Given the description of an element on the screen output the (x, y) to click on. 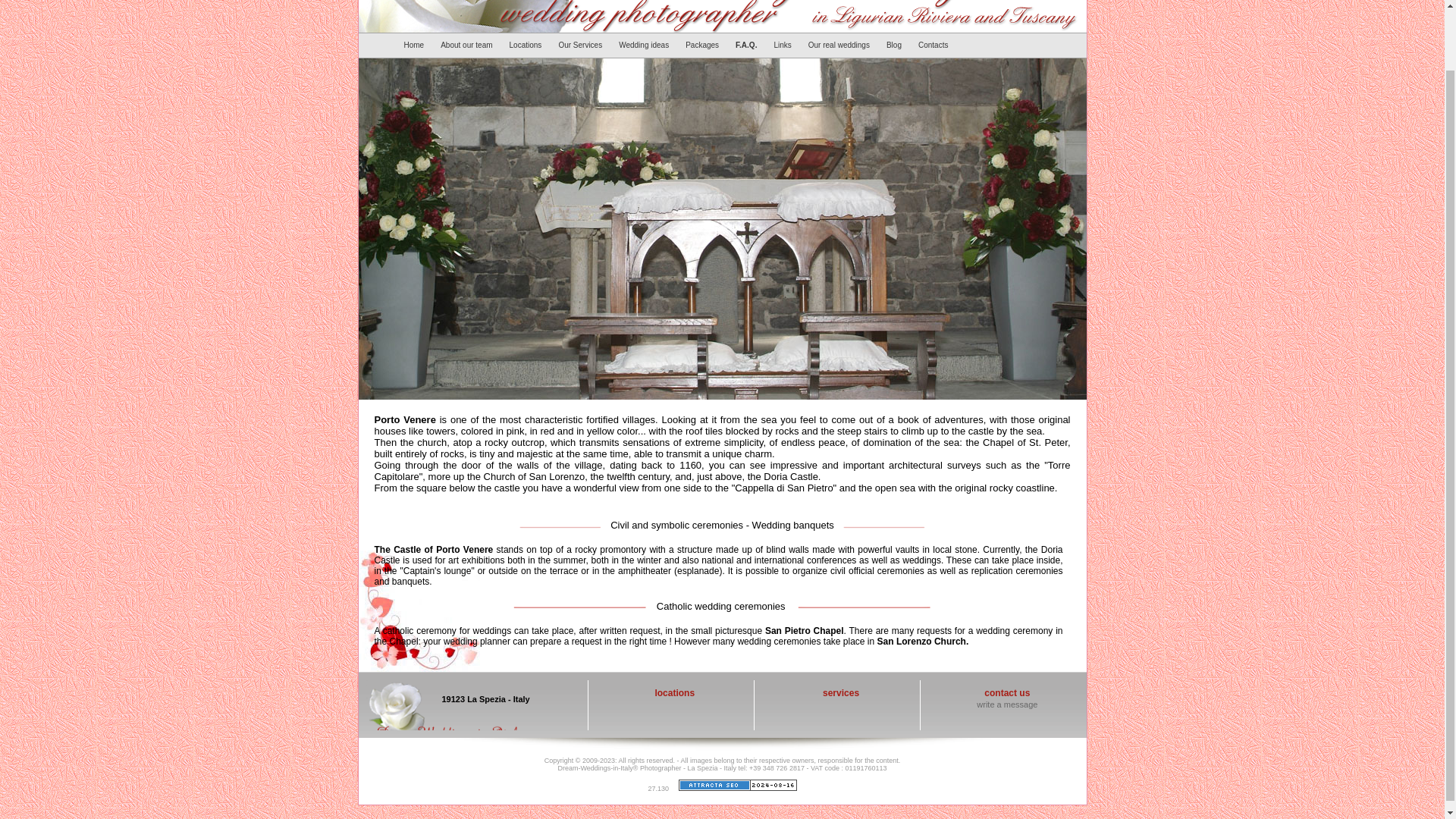
Locations (528, 45)
Contacts (935, 45)
Our Services (581, 45)
About our team (467, 45)
Blog (896, 45)
Links (784, 45)
F.A.Q. (748, 45)
Wedding ideas (645, 45)
Packages (704, 45)
write a message (1006, 704)
